Given the description of an element on the screen output the (x, y) to click on. 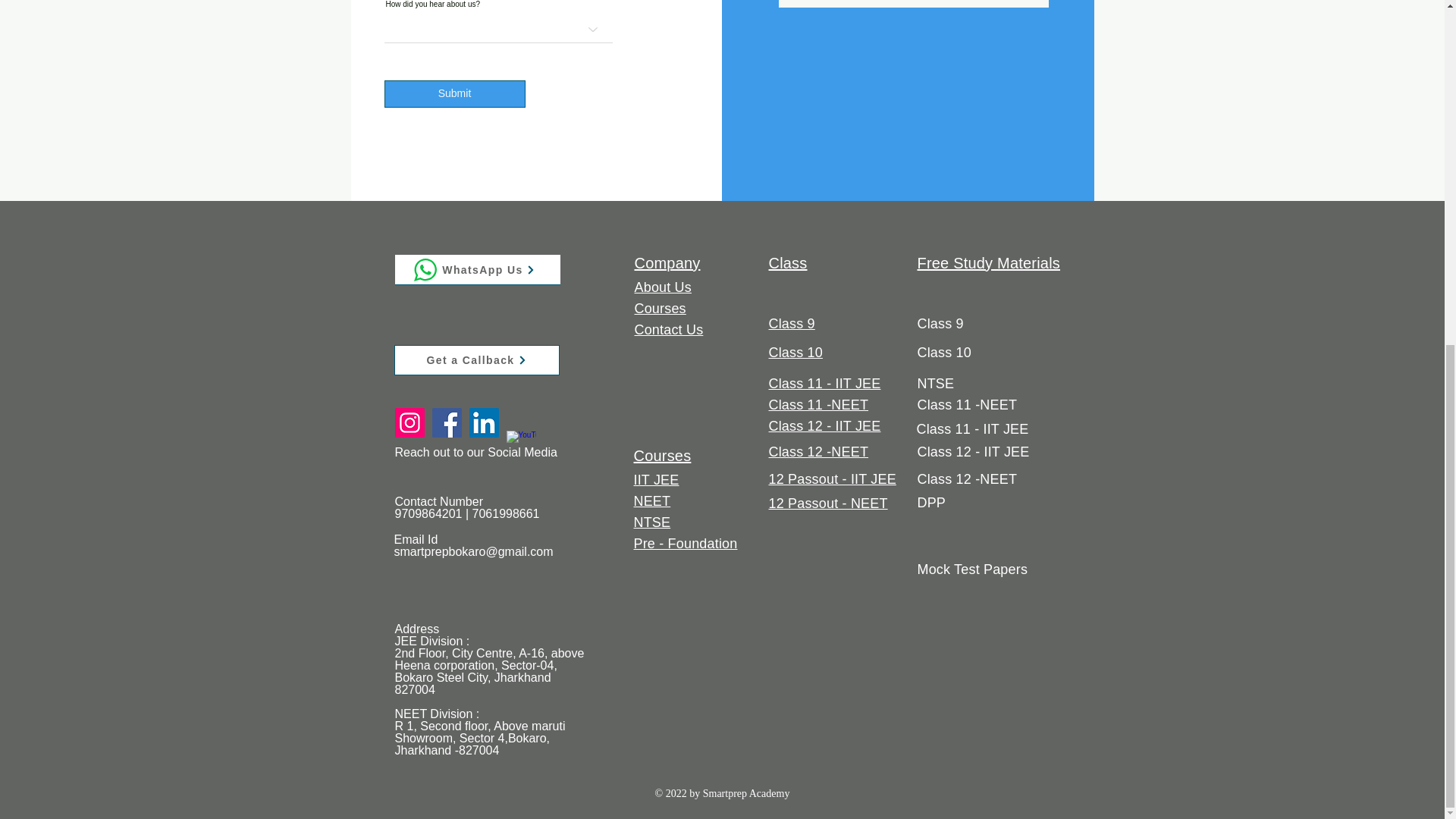
WhatsApp Us (476, 269)
NTSE (652, 522)
Pre - Foundation (685, 543)
IIT JEE (656, 479)
Contact Us (668, 329)
Free Study Materials (989, 262)
Class 12 - IIT JEE (824, 426)
Class 10 (795, 352)
NEET (652, 500)
Class 11 -NEET (818, 404)
Class 9 (791, 323)
Class 11 - IIT JEE (824, 383)
Courses (659, 308)
Get a Callback (476, 359)
Courses (662, 455)
